Given the description of an element on the screen output the (x, y) to click on. 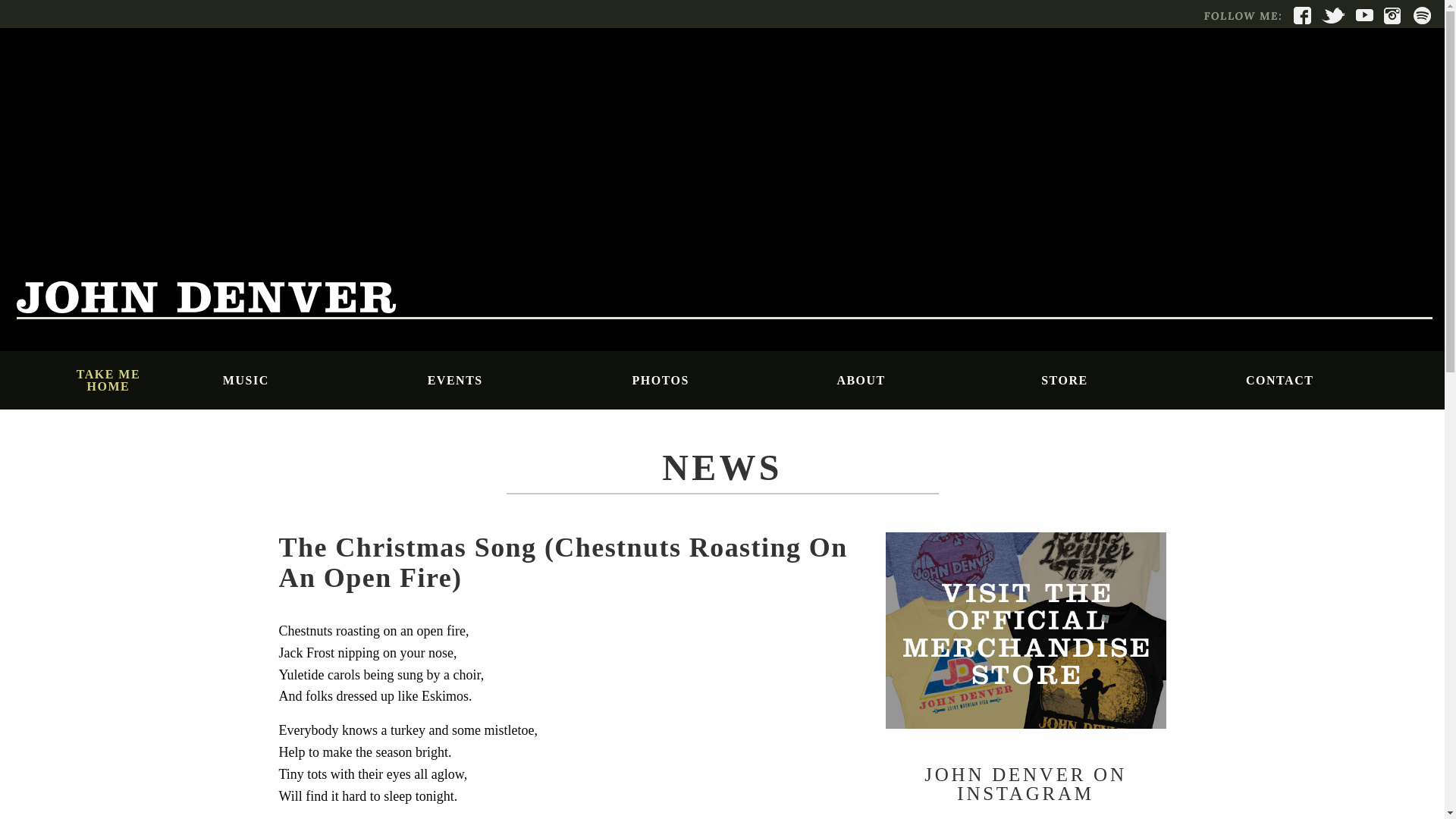
ABOUT (926, 379)
Instagram (1392, 15)
CONTACT (1335, 379)
Follow Me (1240, 15)
STORE (1131, 379)
EVENTS (517, 379)
MUSIC (312, 379)
PHOTOS (722, 379)
Youtube (1364, 15)
Twitter (1333, 15)
